Given the description of an element on the screen output the (x, y) to click on. 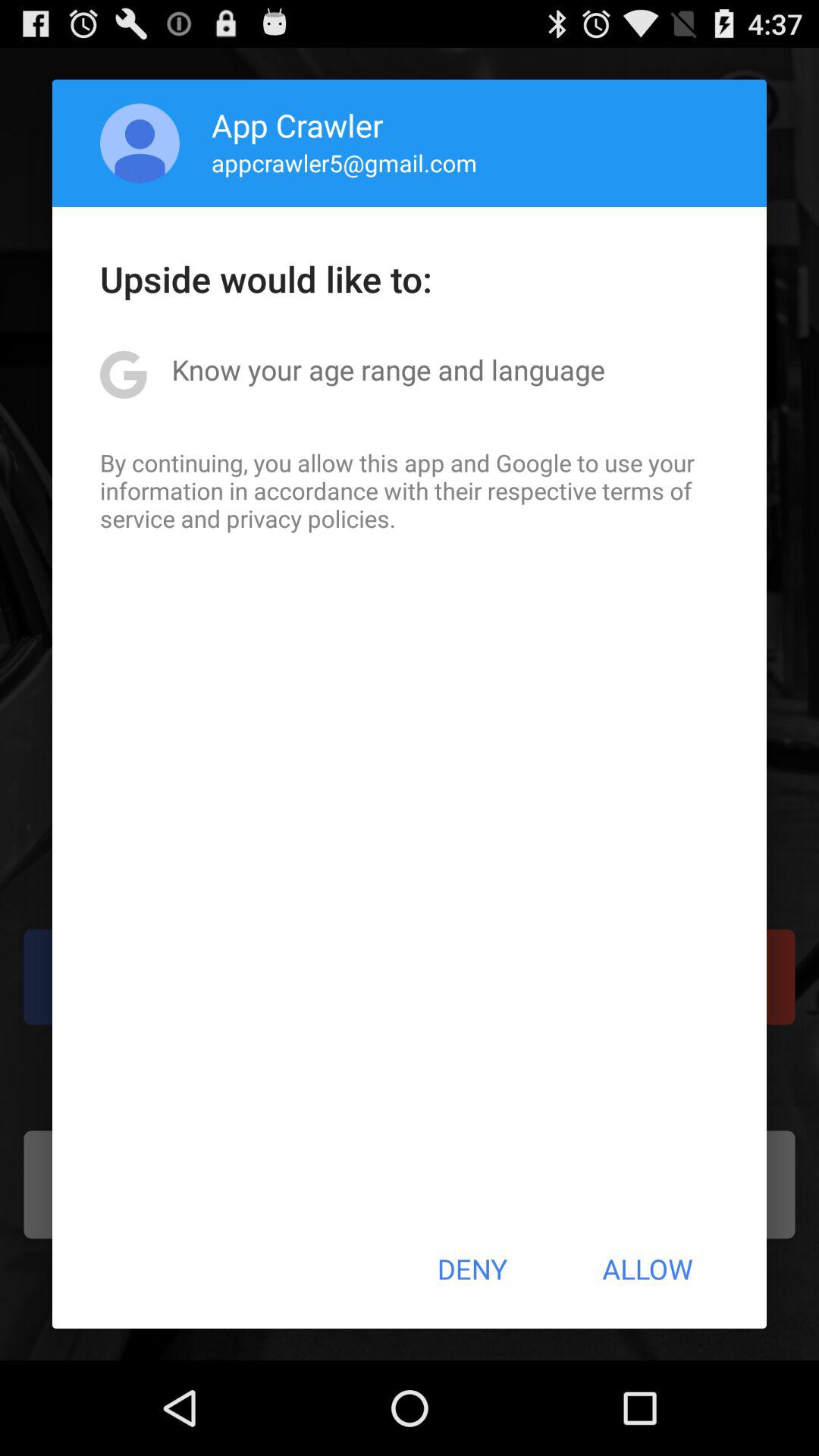
open the deny item (471, 1268)
